Given the description of an element on the screen output the (x, y) to click on. 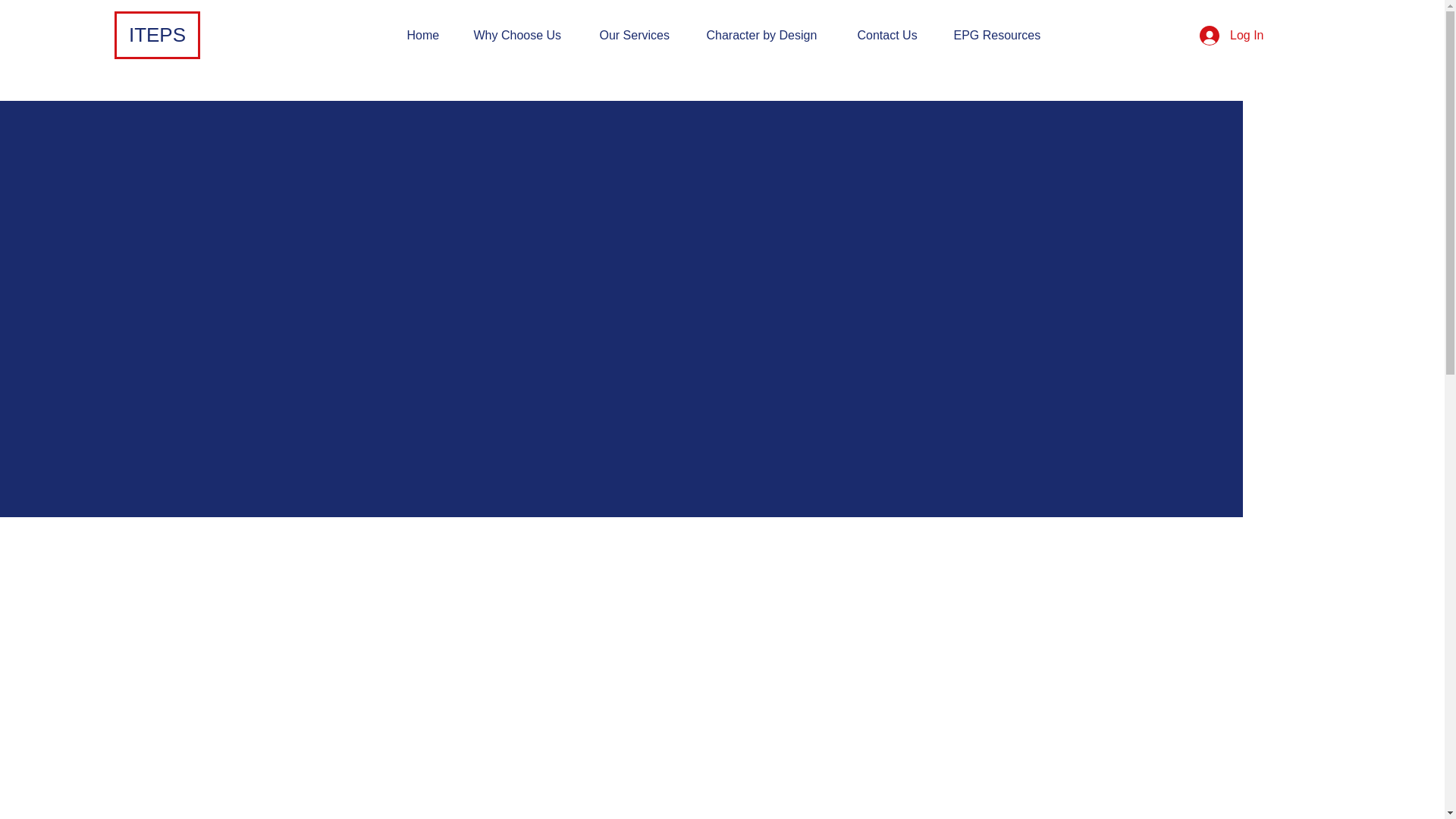
Character by Design (769, 35)
Contact Us (893, 35)
Our Services (641, 35)
EPG Resources (1003, 35)
Why Choose Us (525, 35)
Log In (1231, 35)
Home (429, 35)
ITEPS (157, 34)
